Given the description of an element on the screen output the (x, y) to click on. 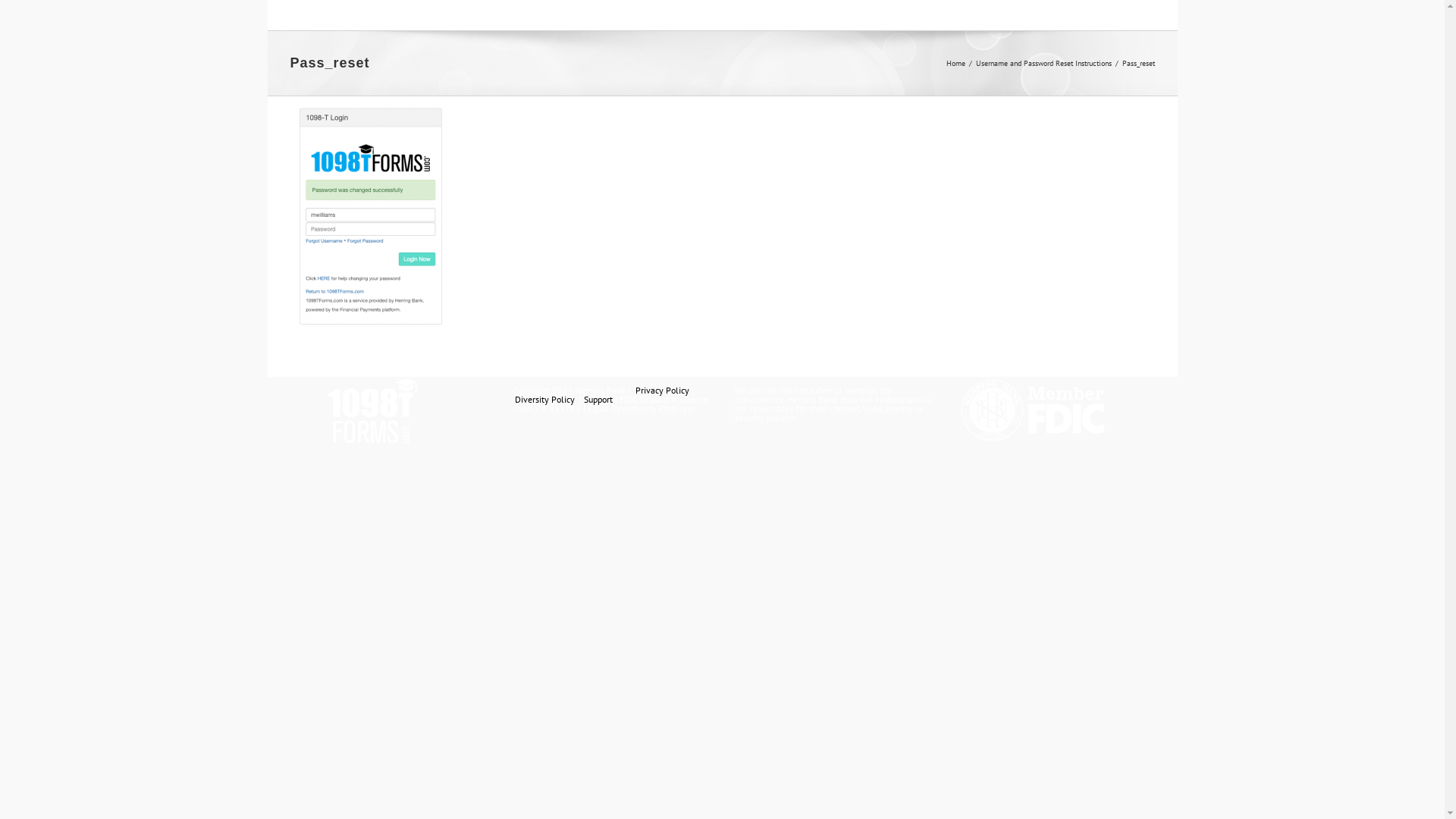
Username and Password Reset Instructions Element type: text (1042, 62)
2019 UPDATES Element type: text (839, 15)
RETURNING STUDENT LOGIN Element type: text (503, 15)
EDUCATOR LOGIN Element type: text (698, 15)
Privacy Policy Element type: text (662, 389)
Diversity Policy Element type: text (544, 398)
Home Element type: text (955, 62)
PRODUCTS Element type: text (955, 15)
Support Element type: text (597, 398)
ABOUT US Element type: text (1055, 15)
HOME Element type: text (353, 15)
